Given the description of an element on the screen output the (x, y) to click on. 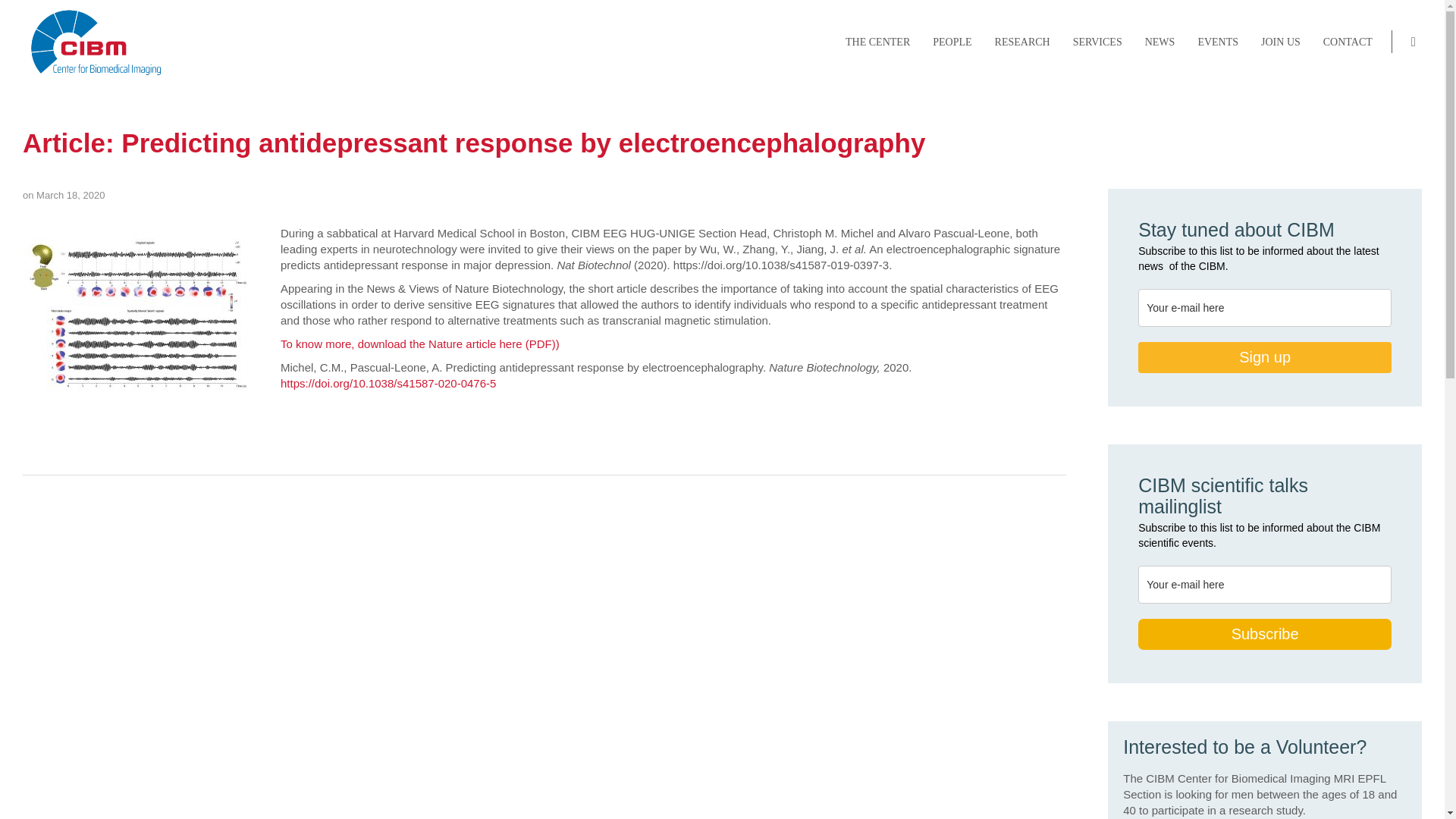
RESEARCH (1022, 41)
THE CENTER (877, 41)
